Given the description of an element on the screen output the (x, y) to click on. 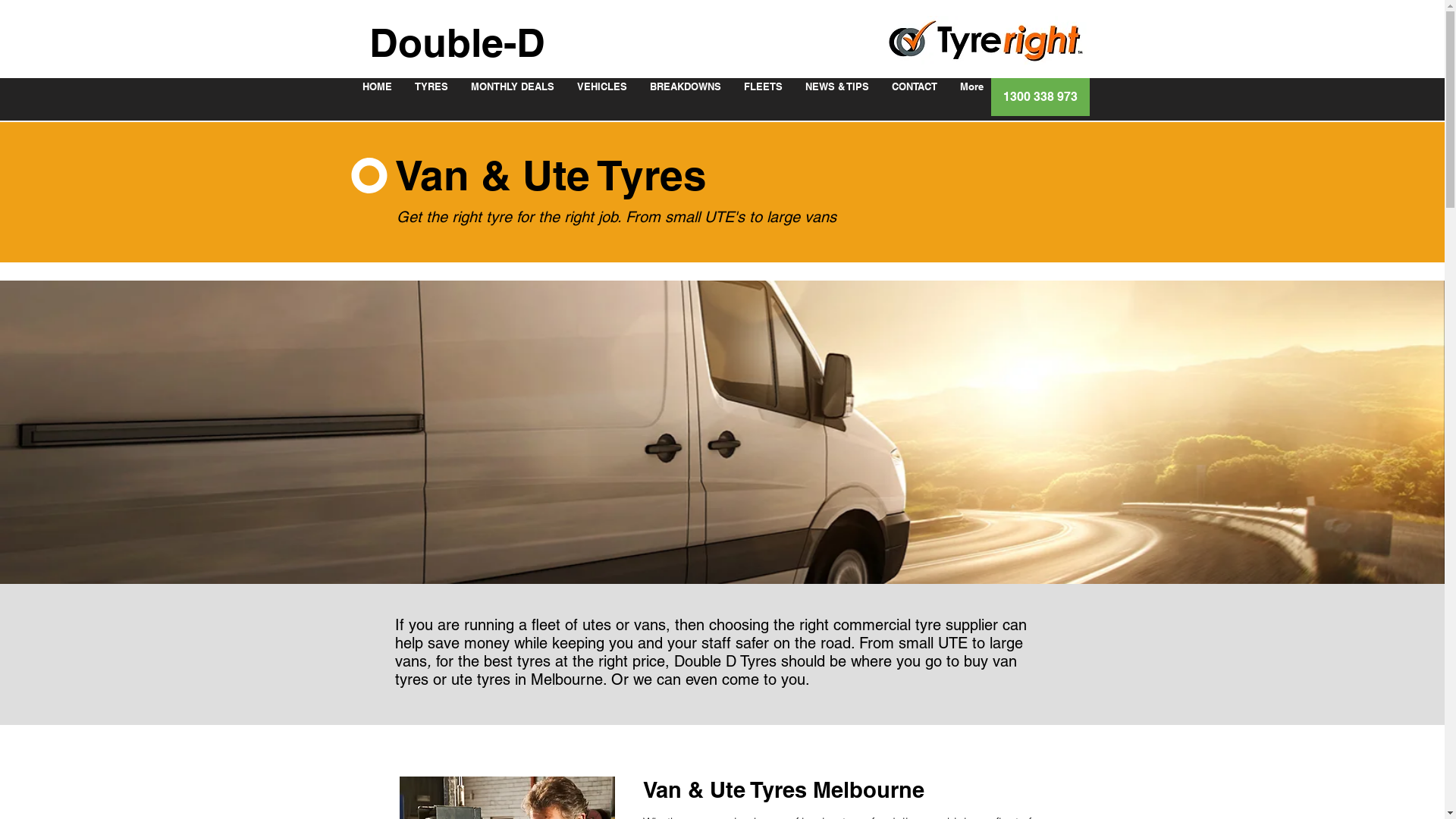
CONTACT Element type: text (913, 96)
HOME Element type: text (376, 96)
MONTHLY DEALS Element type: text (512, 96)
BREAKDOWNS Element type: text (685, 96)
NEWS & TIPS Element type: text (836, 96)
TYRES Element type: text (431, 96)
COMMERCIAL TRUCK TYRES  Element type: text (352, 99)
Double-D Element type: text (456, 41)
1300 338 973 Element type: text (1039, 97)
FLEETS Element type: text (762, 96)
COMMERCIAL TRUCK TYRES  Element type: text (352, 5)
